Given the description of an element on the screen output the (x, y) to click on. 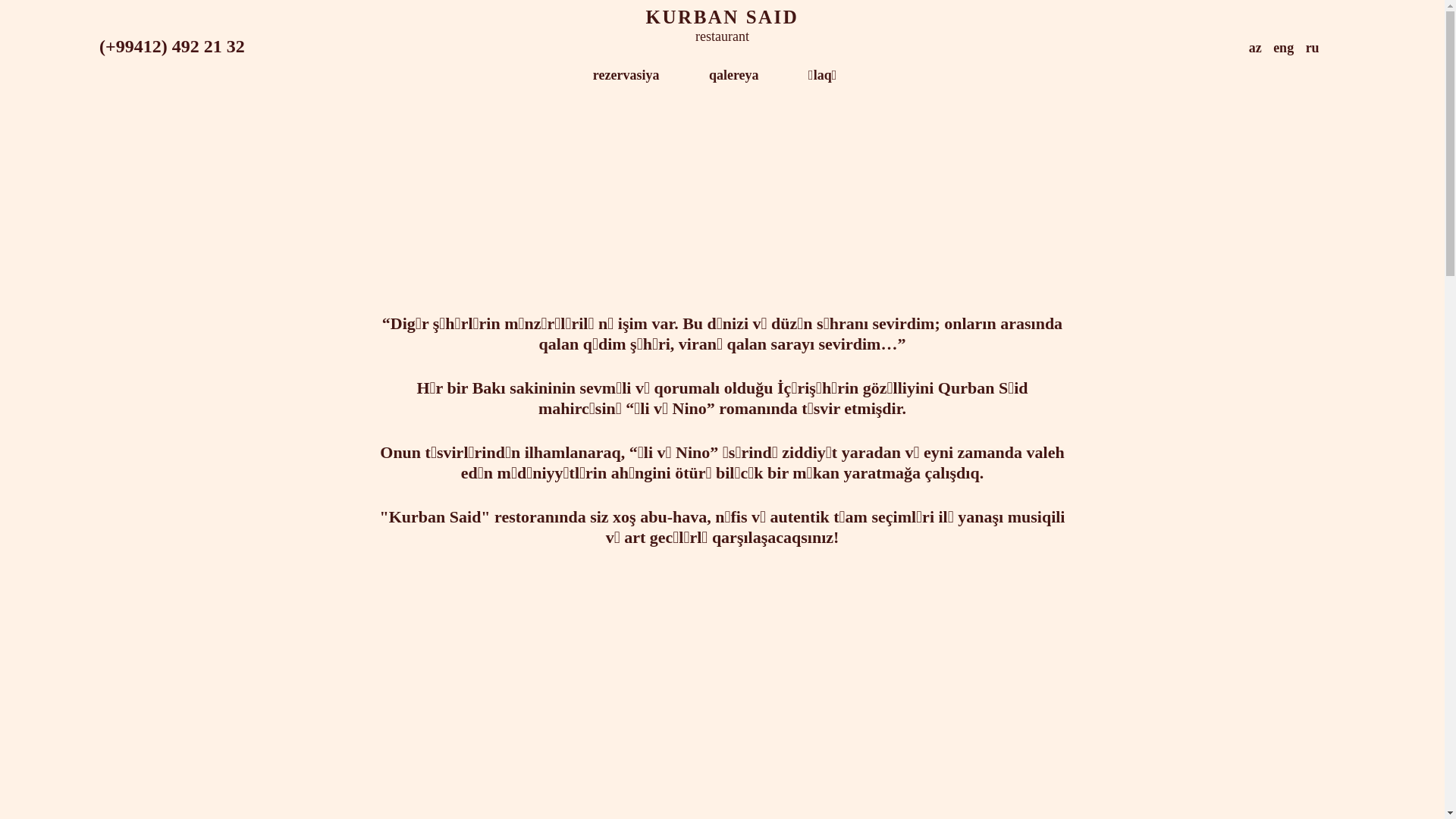
az Element type: text (1254, 47)
ru Element type: text (1312, 47)
eng Element type: text (1283, 47)
rezervasiya Element type: text (626, 75)
KURBAN SAID
restaurant Element type: text (721, 36)
qalereya Element type: text (734, 75)
(+99412) 492 21 32 Element type: text (171, 46)
